Given the description of an element on the screen output the (x, y) to click on. 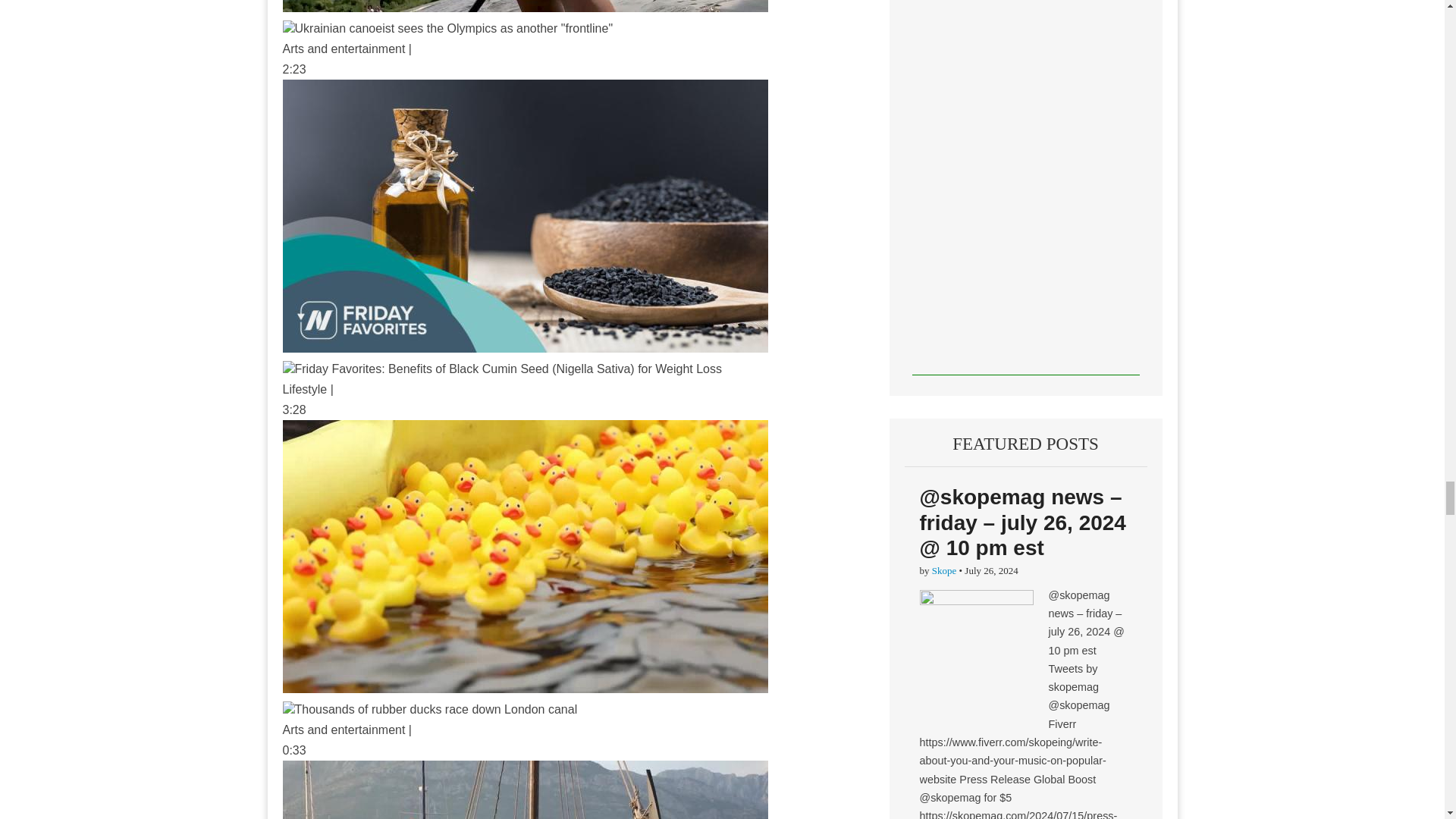
Posts by Skope (943, 570)
